Given the description of an element on the screen output the (x, y) to click on. 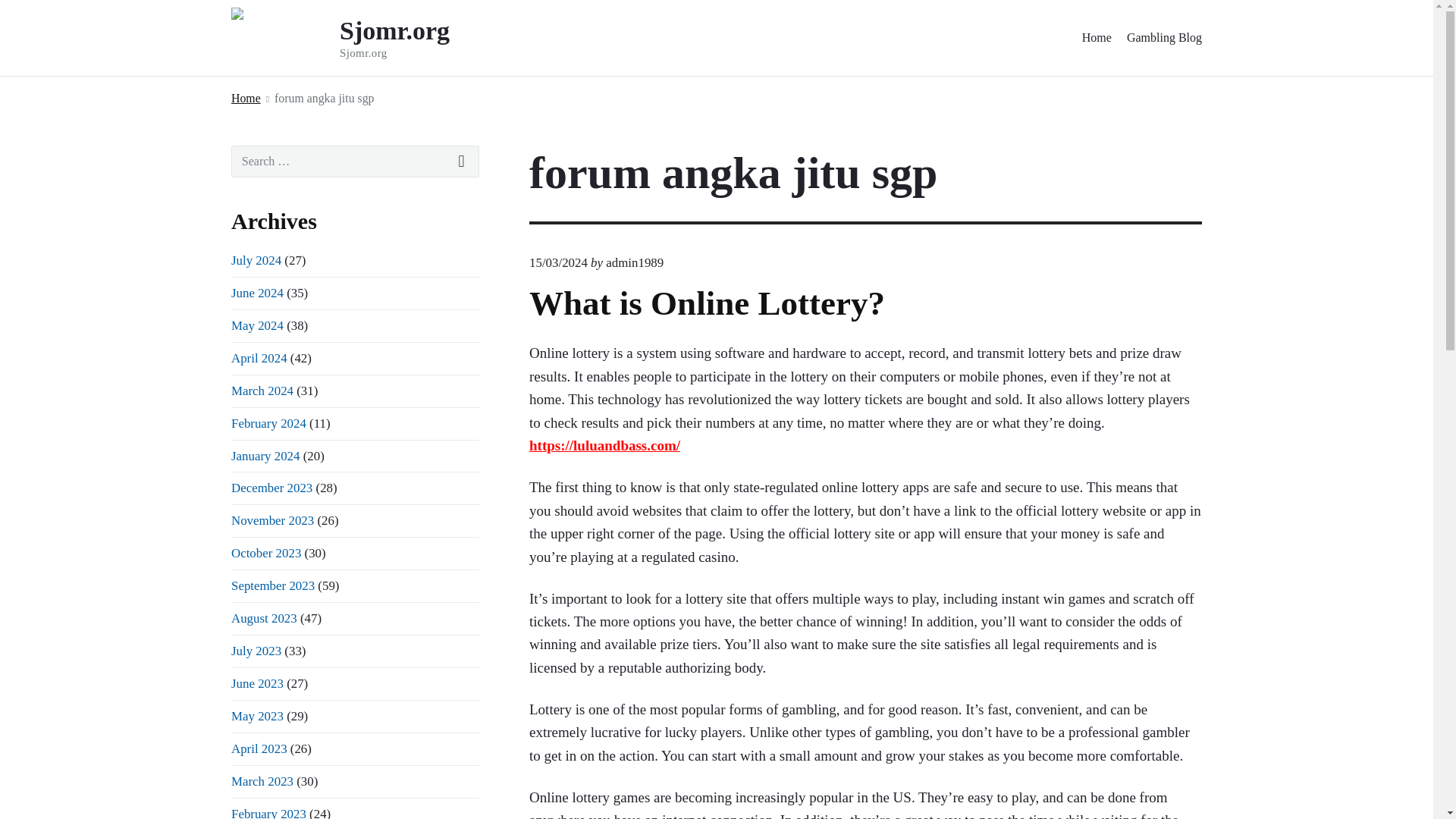
April 2024 (258, 358)
August 2023 (264, 617)
November 2023 (272, 520)
admin1989 (634, 262)
SEARCH (462, 161)
May 2024 (257, 325)
January 2024 (265, 455)
Friday, March 15, 2024, 8:05 pm (558, 262)
March 2024 (262, 391)
Home (245, 97)
March 2023 (262, 780)
Search for: (355, 161)
Home (1096, 37)
February 2024 (268, 423)
October 2023 (266, 553)
